Given the description of an element on the screen output the (x, y) to click on. 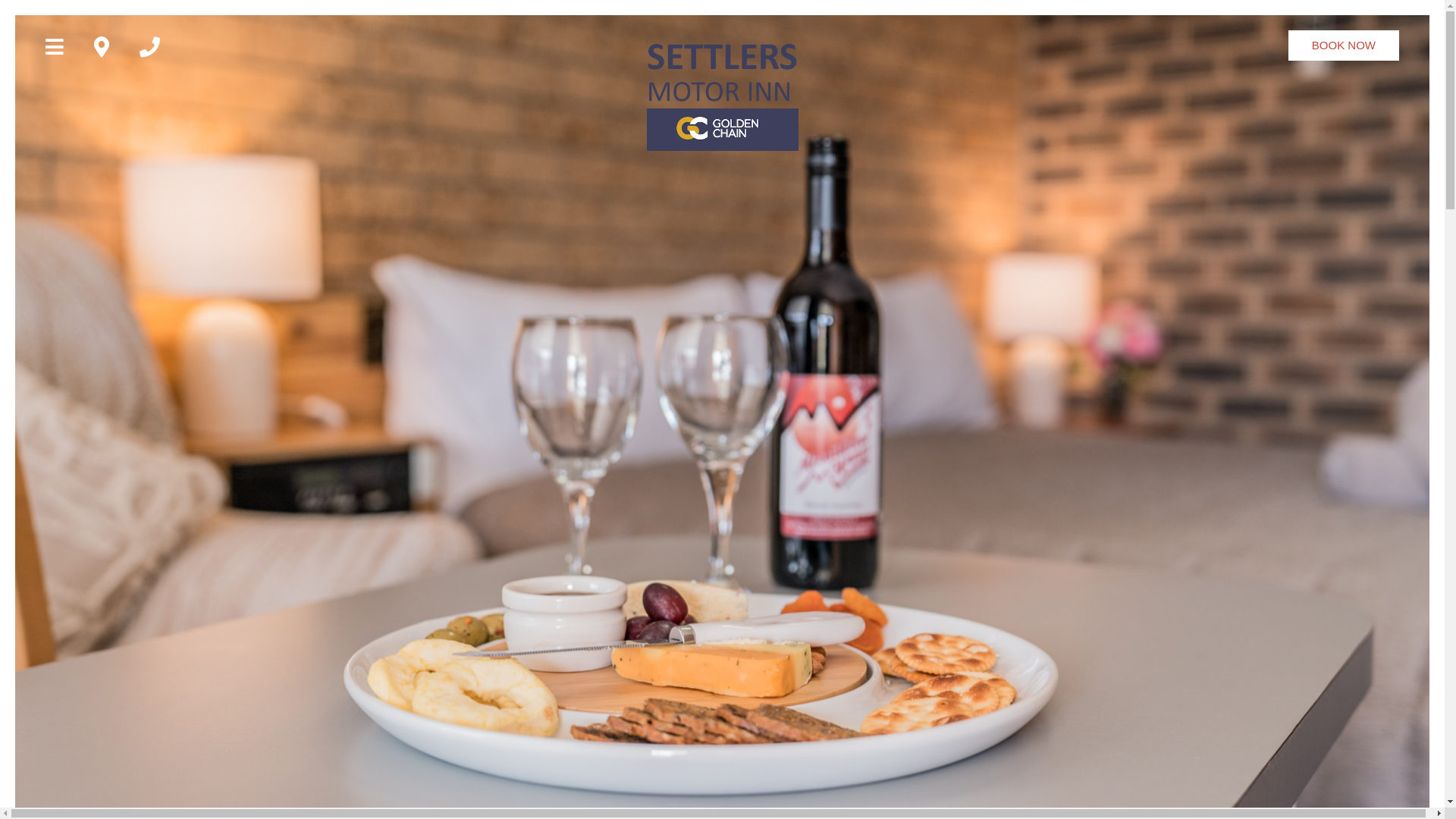
BOOK NOW Element type: text (1343, 45)
